Given the description of an element on the screen output the (x, y) to click on. 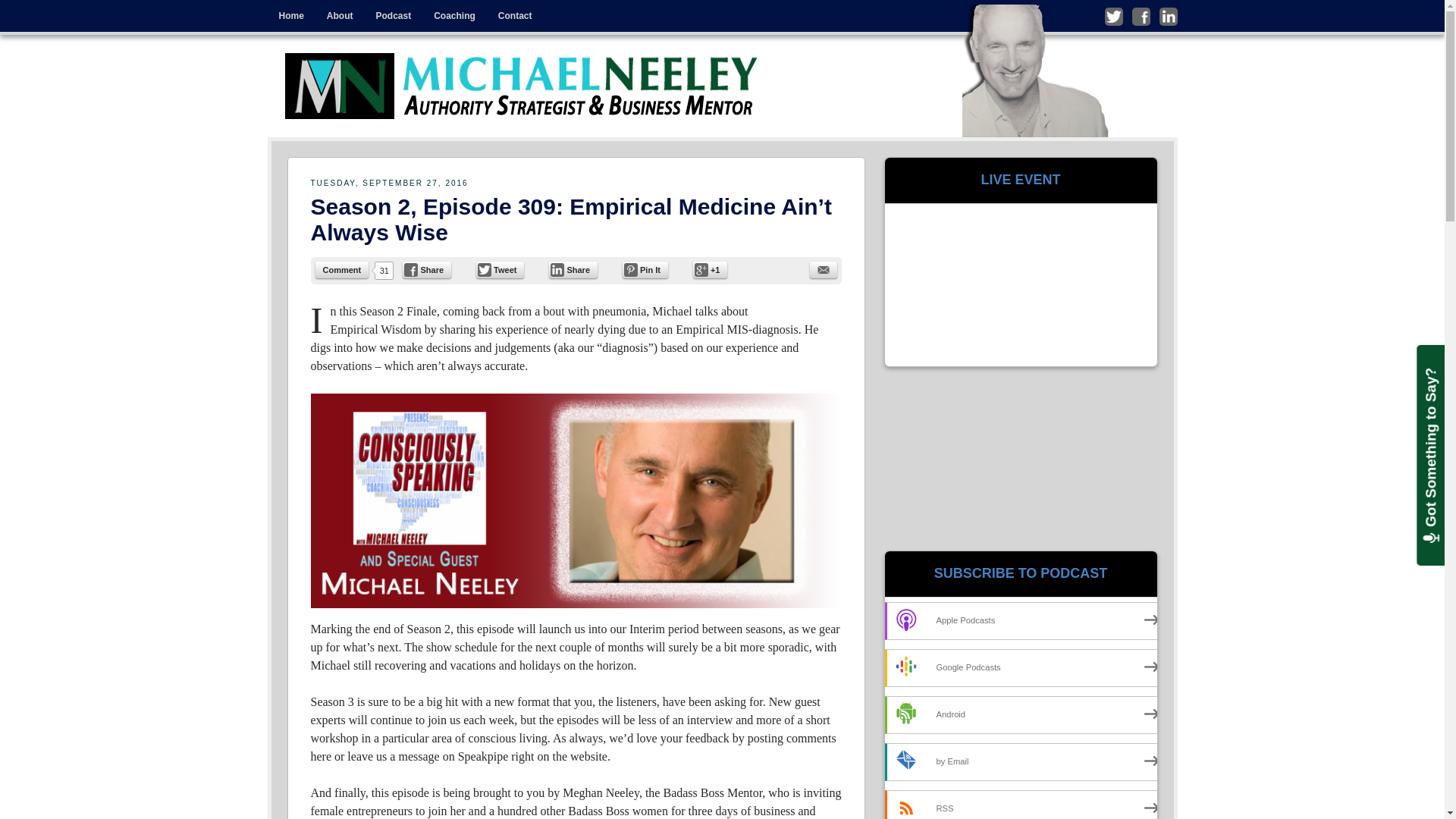
Skip to content (299, 10)
Skip to content (299, 10)
Contact (514, 15)
Share (572, 269)
Tweet (500, 269)
Michael Neeley (523, 85)
Subscribe on Android (1025, 714)
email (823, 269)
Home (290, 15)
Follow me on Twitter (1112, 16)
